Given the description of an element on the screen output the (x, y) to click on. 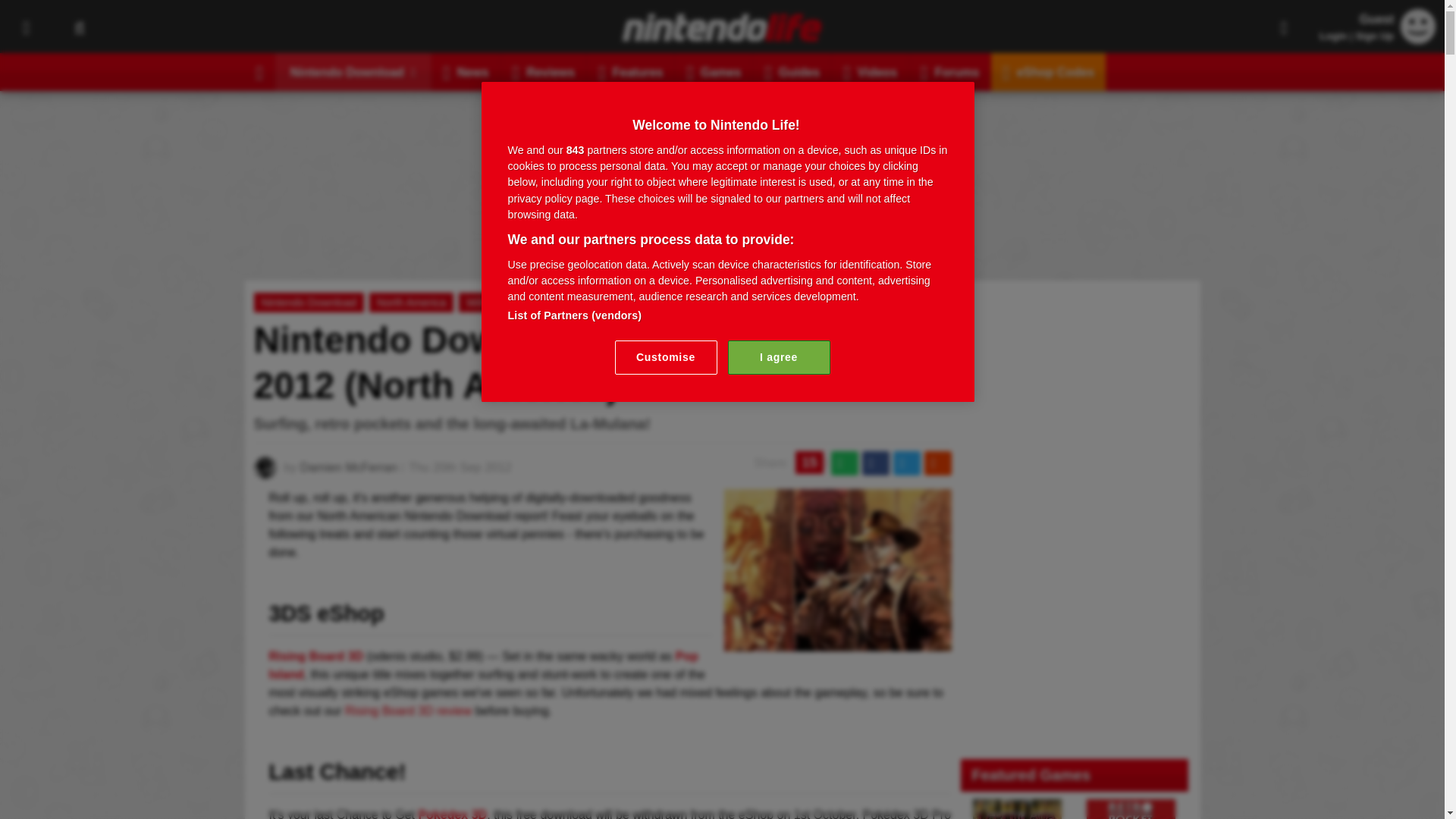
WiiWare (486, 302)
News (465, 71)
Guest (1417, 39)
North America (410, 302)
Damien McFerran (348, 467)
Nintendo Download (308, 302)
At long last! (836, 641)
Features (630, 71)
Search (79, 26)
Reviews (544, 71)
